Given the description of an element on the screen output the (x, y) to click on. 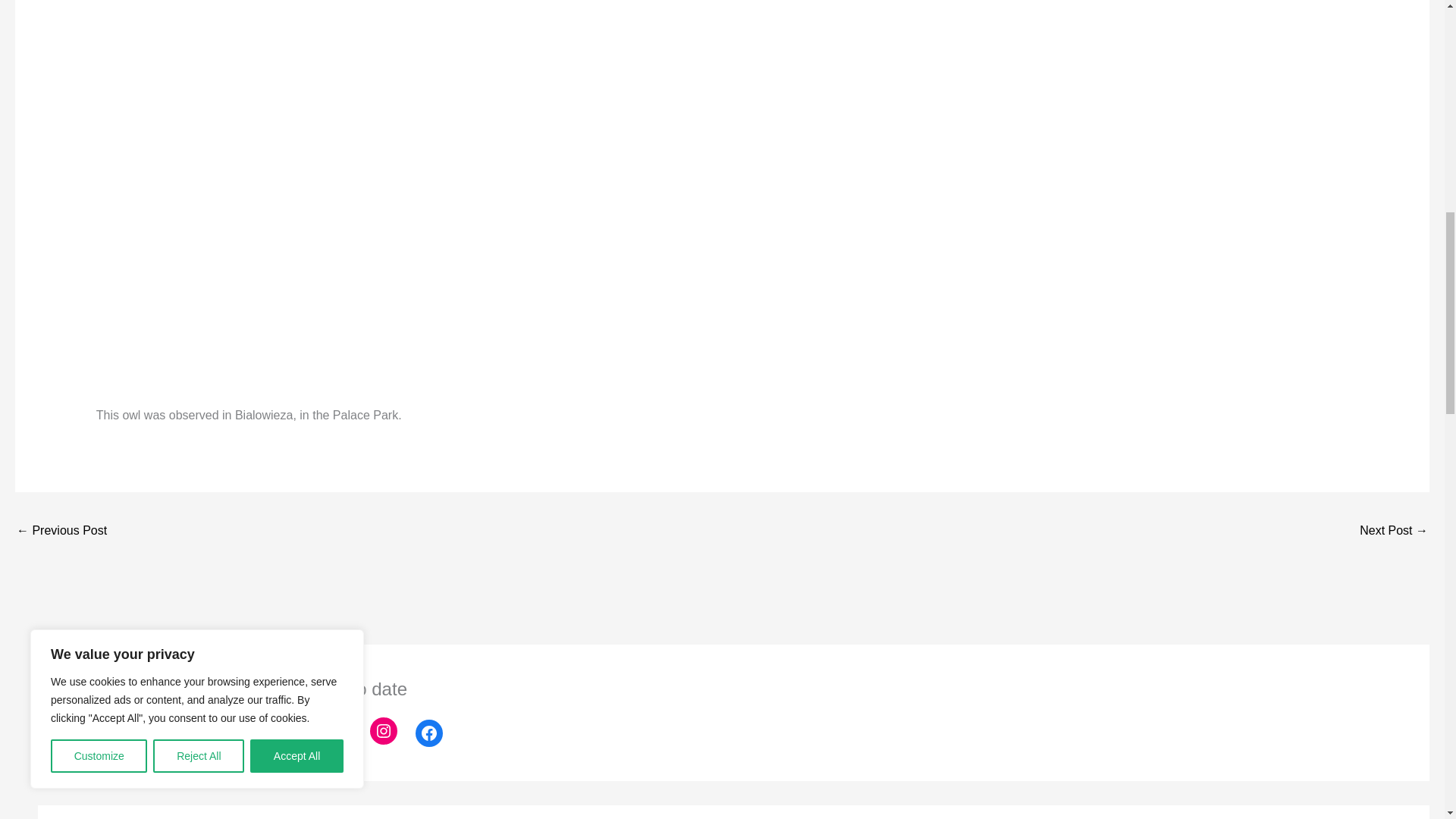
Bialowieza Forest red fox on jay hunt (1393, 531)
The wolf (61, 531)
